Given the description of an element on the screen output the (x, y) to click on. 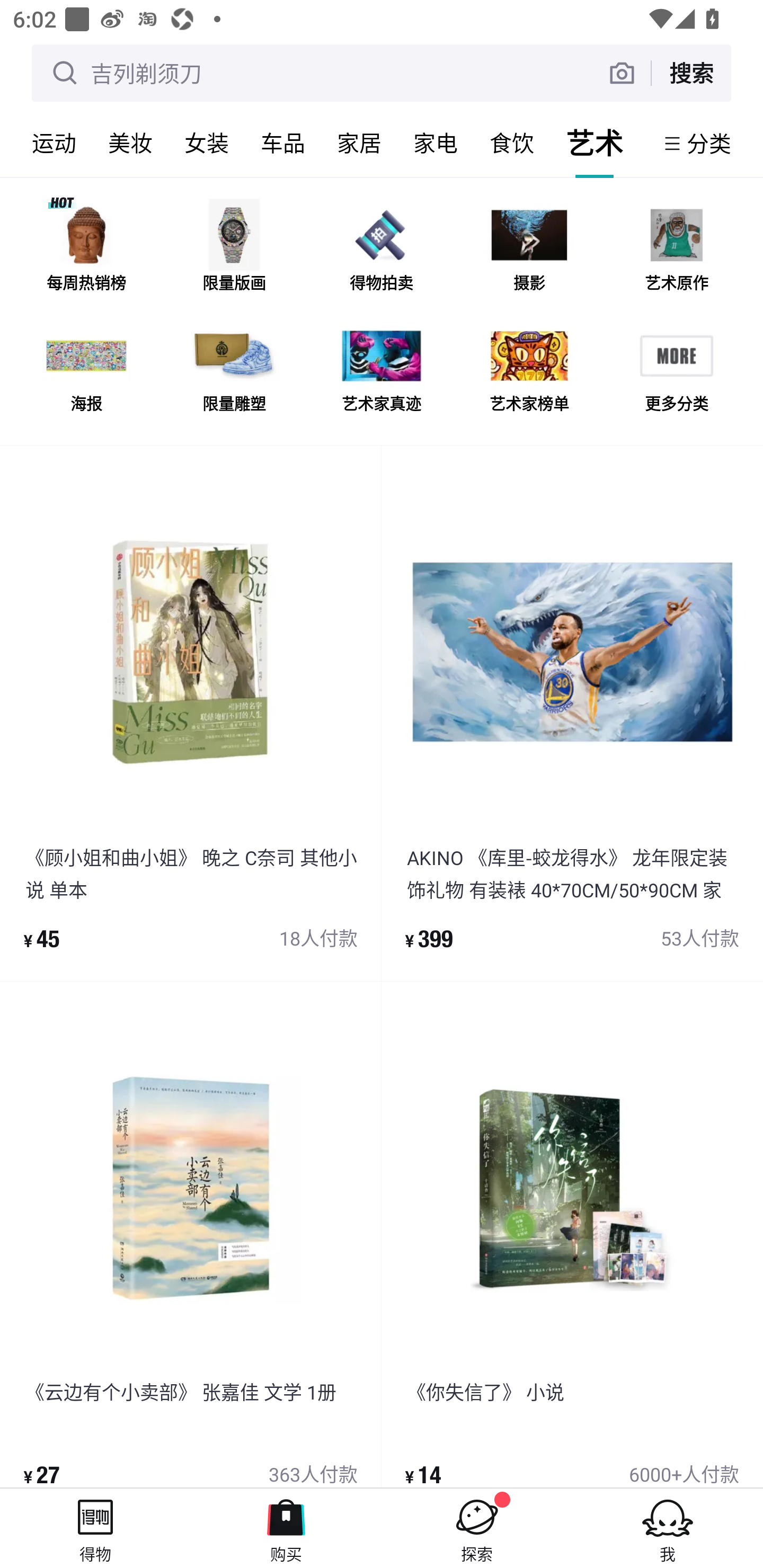
吉列剃须刀 搜索 (381, 72)
搜索 (690, 72)
运动 (54, 143)
美妆 (130, 143)
女装 (206, 143)
车品 (282, 143)
家居 (359, 143)
家电 (435, 143)
食饮 (511, 143)
艺术 (594, 143)
分类 (708, 143)
每周热销榜 (86, 251)
限量版画 (233, 251)
得物拍卖 (381, 251)
摄影 (528, 251)
艺术原作 (676, 251)
海报 (86, 372)
限量雕塑 (233, 372)
艺术家真迹 (381, 372)
艺术家榜单 (528, 372)
更多分类 (676, 372)
《顾小姐和曲小姐》 晚之 C奈司 其他小
说 单本 ¥ 45 18人付款 (190, 713)
《云边有个小卖部》 张嘉佳 文学 1册 ¥ 27 363人付款 (190, 1234)
《你失信了》 小说 ¥ 14 6000+人付款 (572, 1234)
得物 (95, 1528)
购买 (285, 1528)
探索 (476, 1528)
我 (667, 1528)
